Given the description of an element on the screen output the (x, y) to click on. 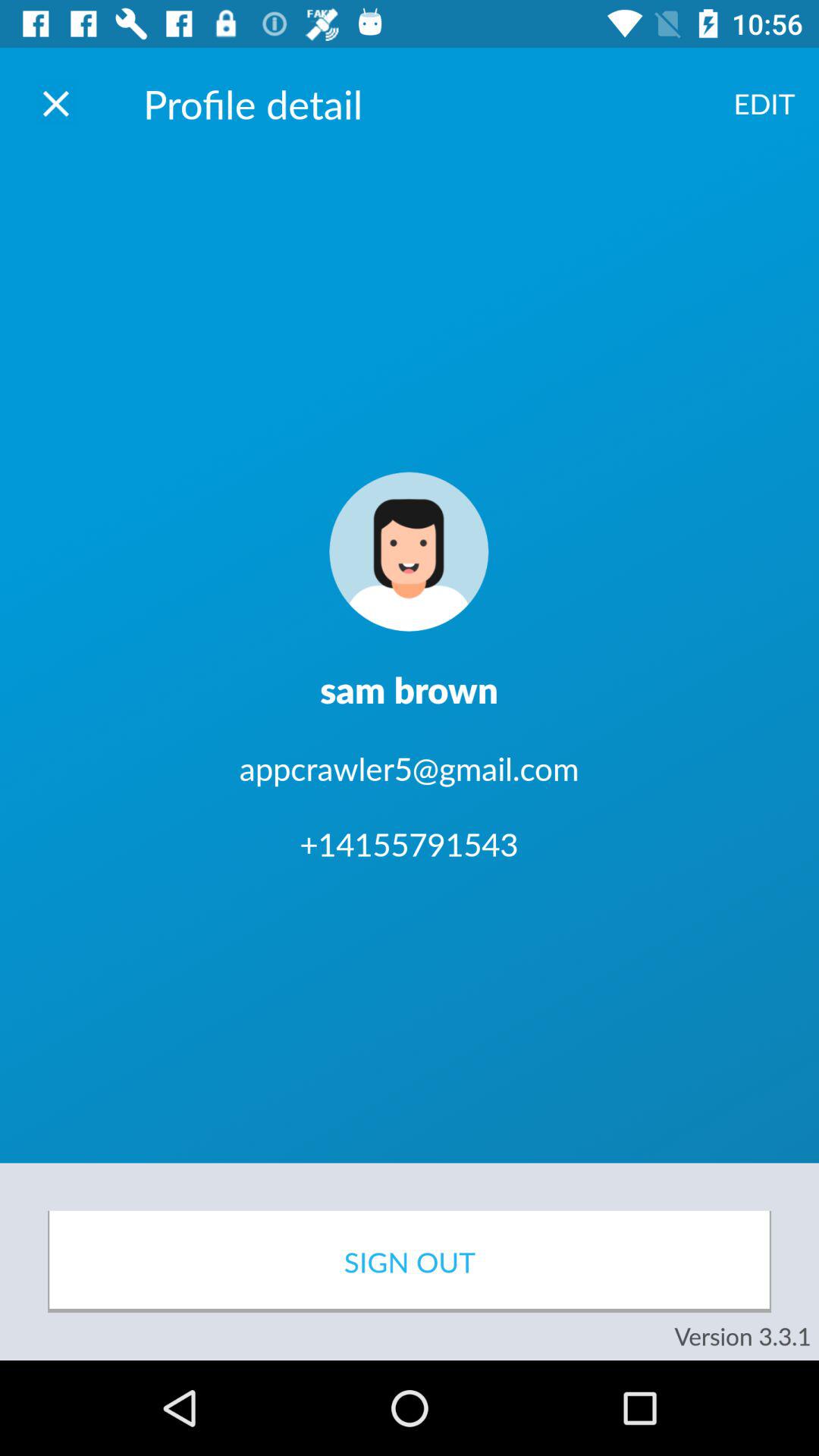
x icon on top left hand of the screen will exit you from the current screen (55, 103)
